Given the description of an element on the screen output the (x, y) to click on. 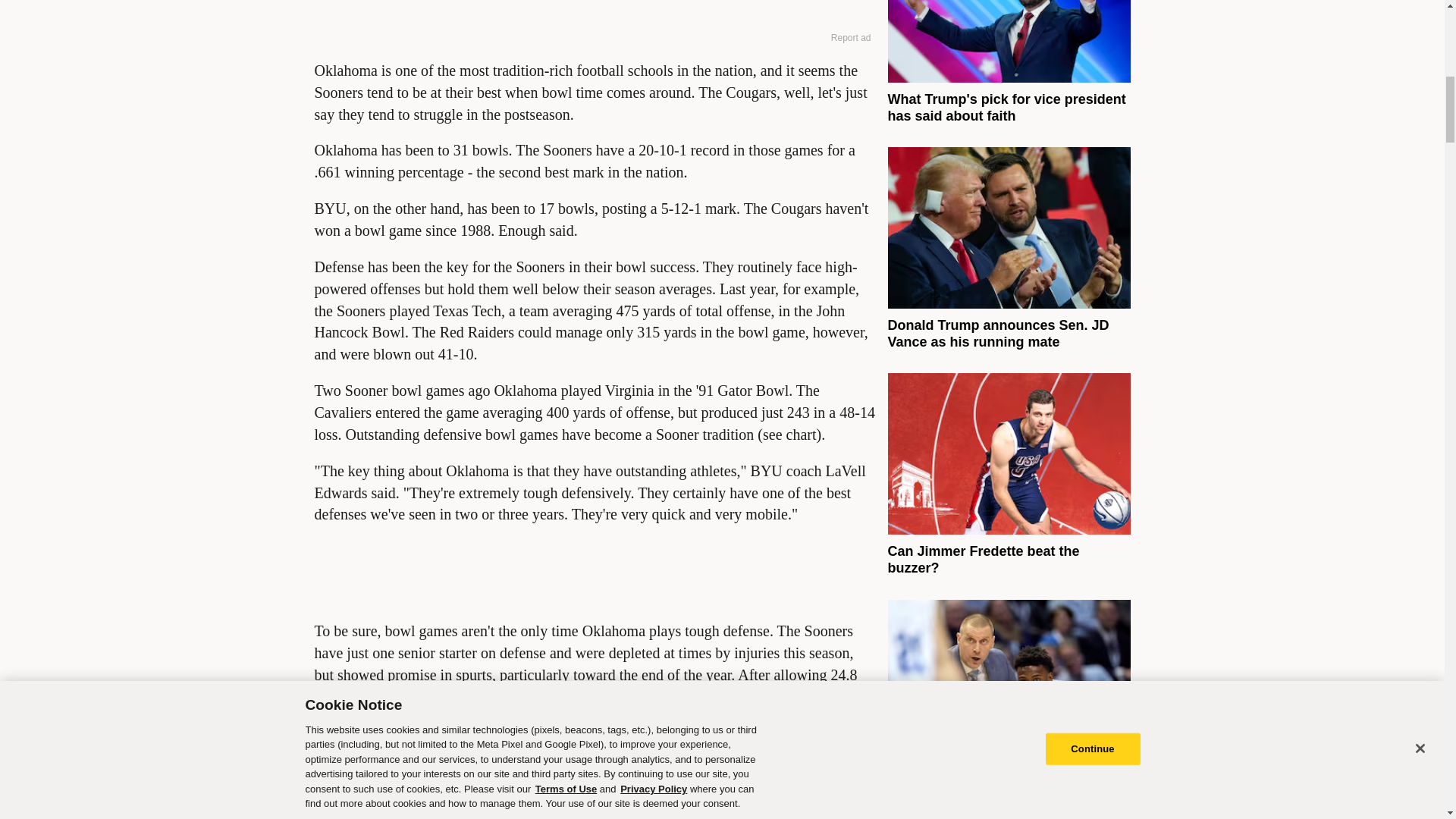
Can Jimmer Fredette beat the buzzer? (982, 559)
3rd party ad content (594, 12)
Donald Trump announces Sen. JD Vance as his running mate (997, 333)
Report ad (850, 38)
What Trump's pick for vice president has said about faith (1005, 107)
